Given the description of an element on the screen output the (x, y) to click on. 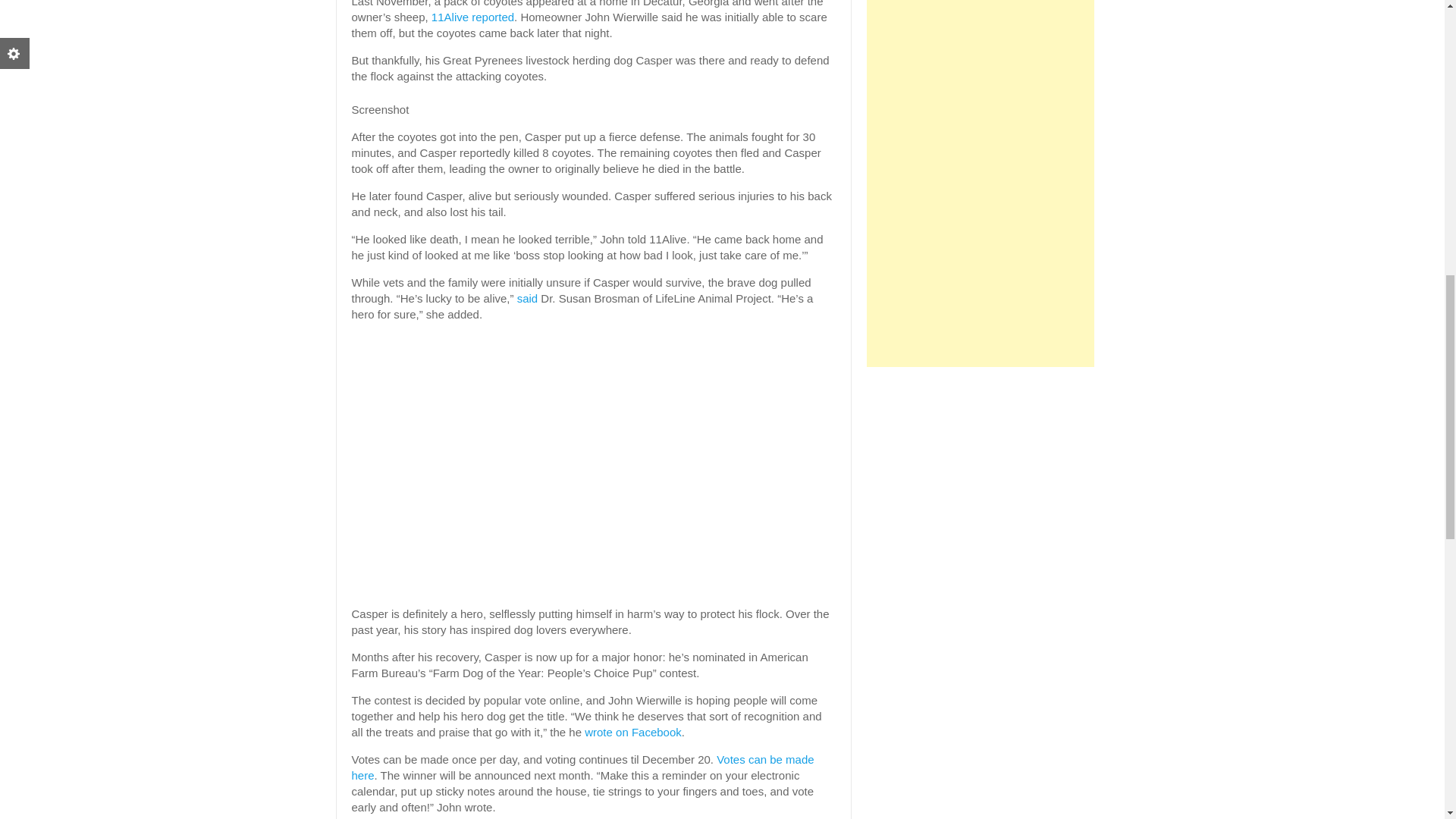
Votes can be made here (582, 767)
11Alive reported (471, 16)
wrote on Facebook (633, 731)
said (527, 297)
